Given the description of an element on the screen output the (x, y) to click on. 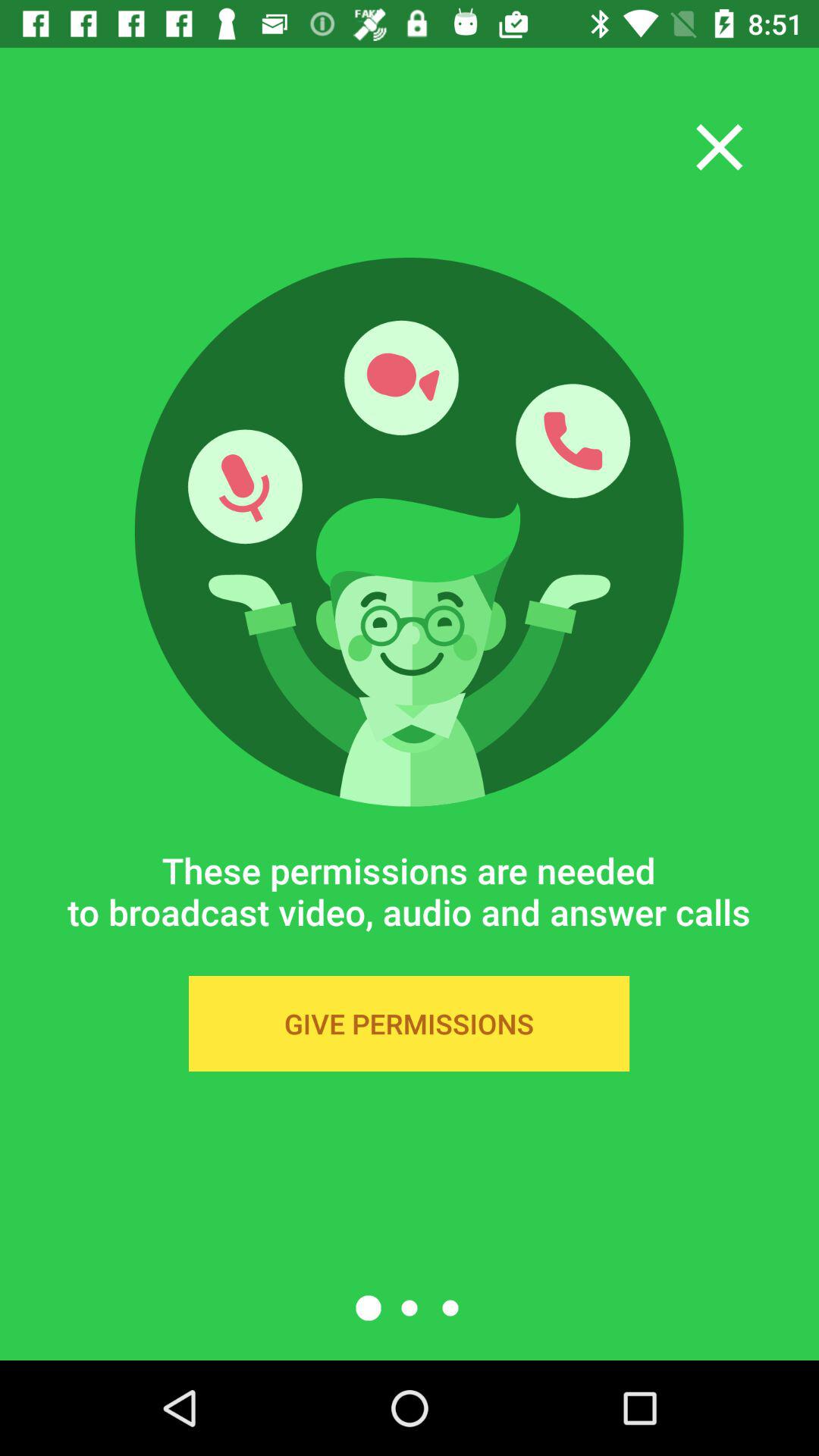
the x button closes the window (719, 147)
